Given the description of an element on the screen output the (x, y) to click on. 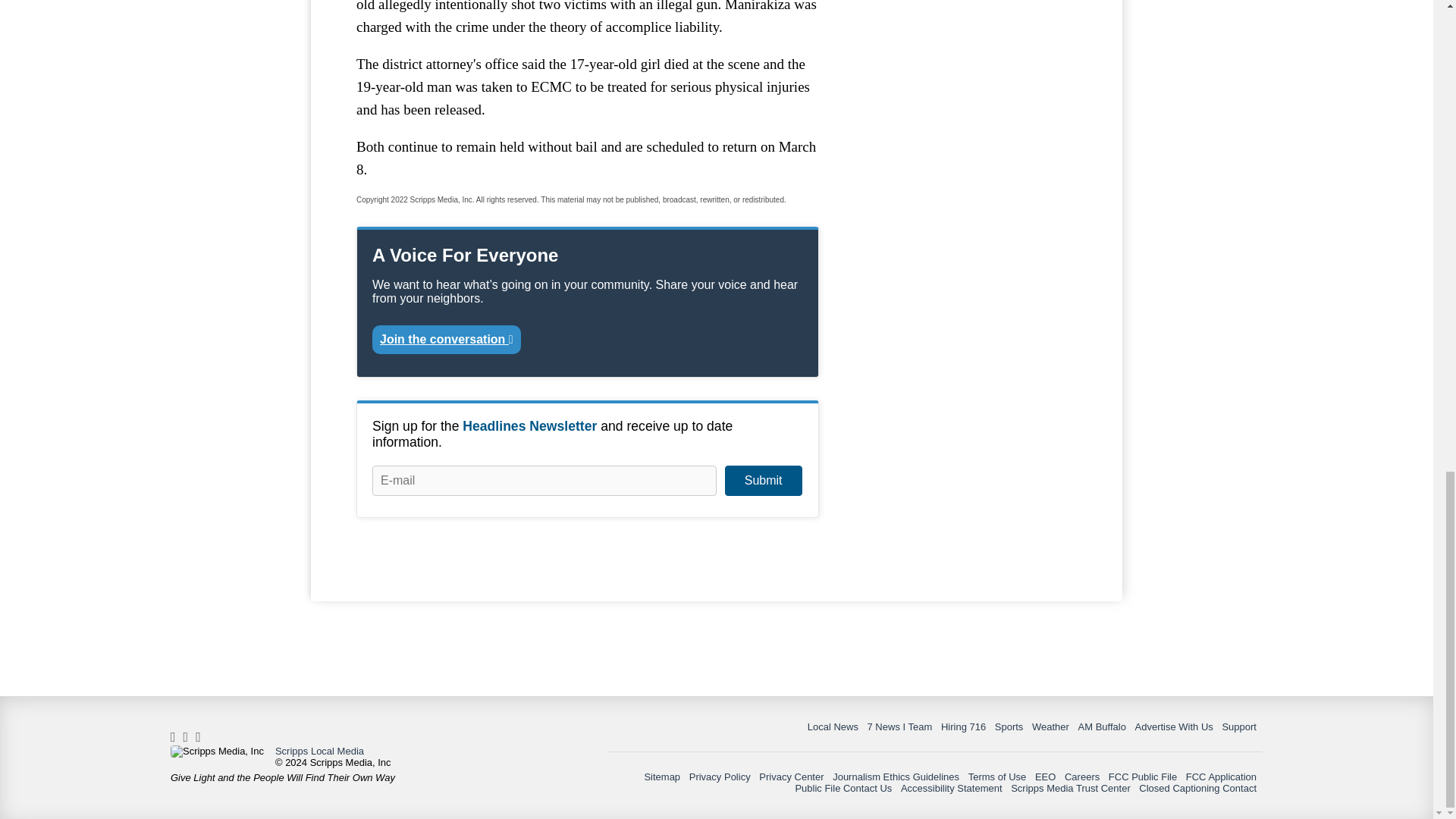
Submit (763, 481)
